Given the description of an element on the screen output the (x, y) to click on. 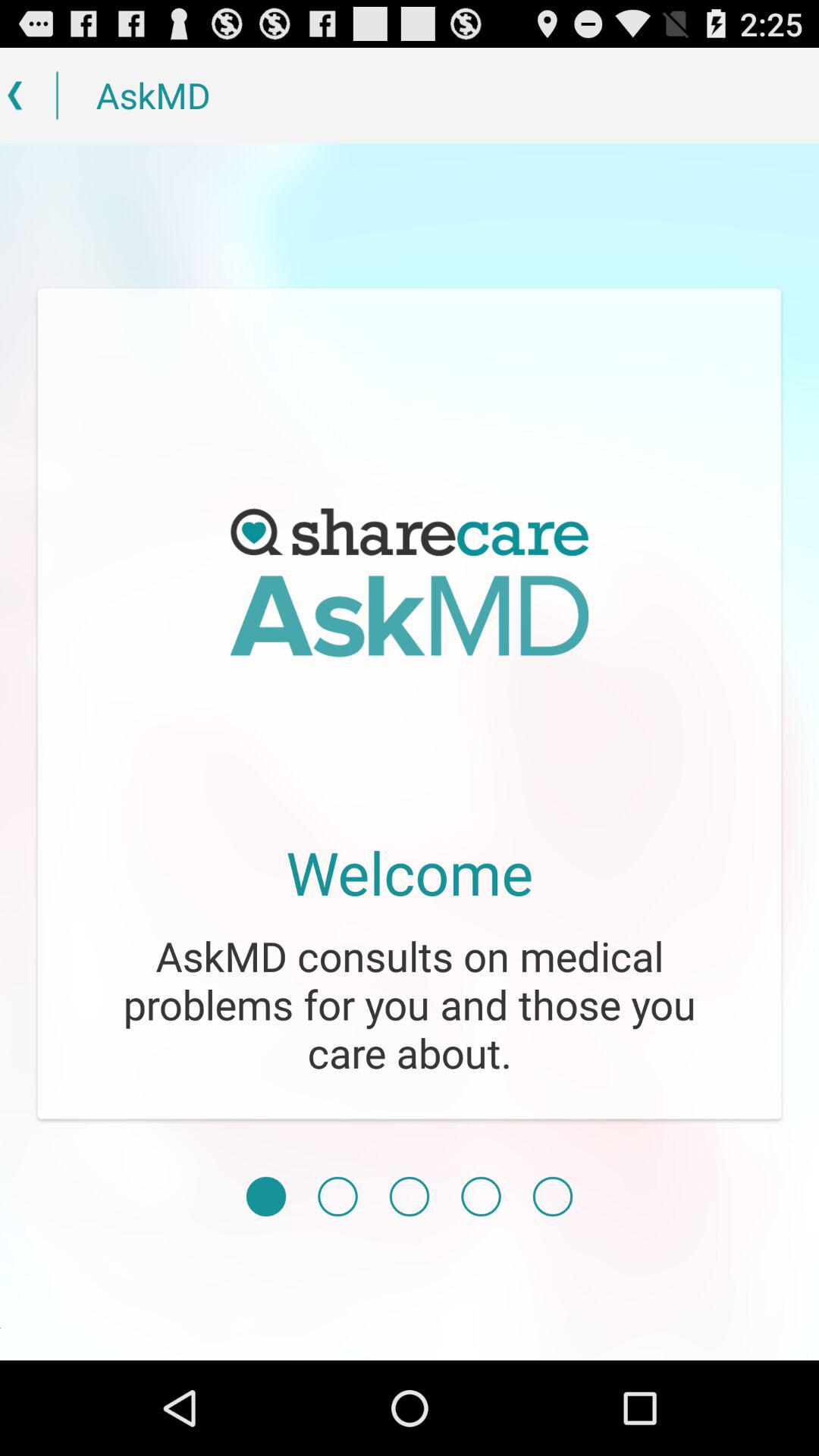
displays an image in the photo set corresponding to the option placement (552, 1196)
